Given the description of an element on the screen output the (x, y) to click on. 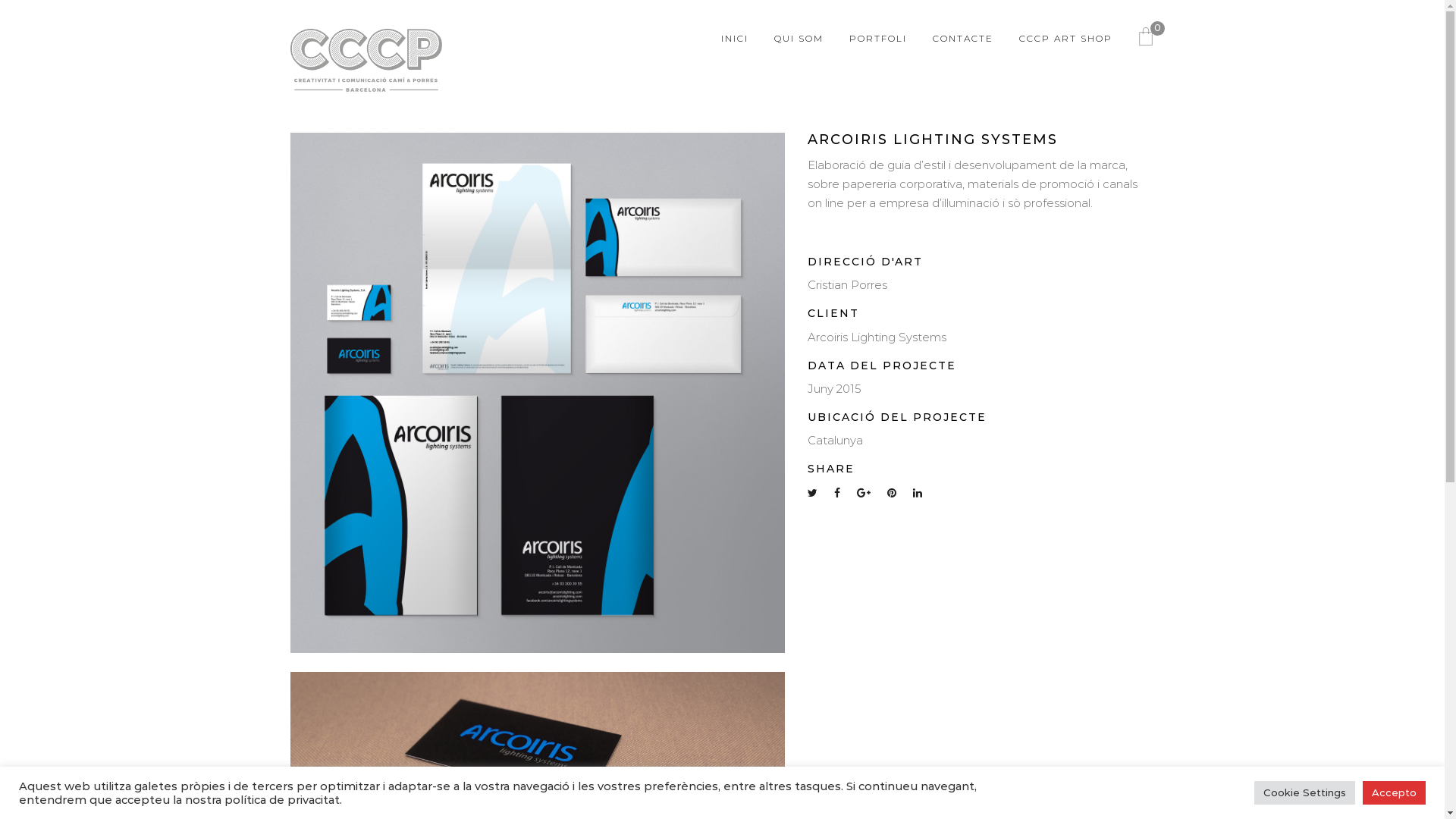
CCCP ART SHOP Element type: text (1065, 38)
CONTACTE Element type: text (962, 38)
QUI SOM Element type: text (797, 38)
INICI Element type: text (733, 38)
Accepto Element type: text (1393, 792)
PORTFOLI Element type: text (877, 38)
Cookie Settings Element type: text (1304, 792)
Stationery-Arcoiris Element type: hover (536, 392)
